Given the description of an element on the screen output the (x, y) to click on. 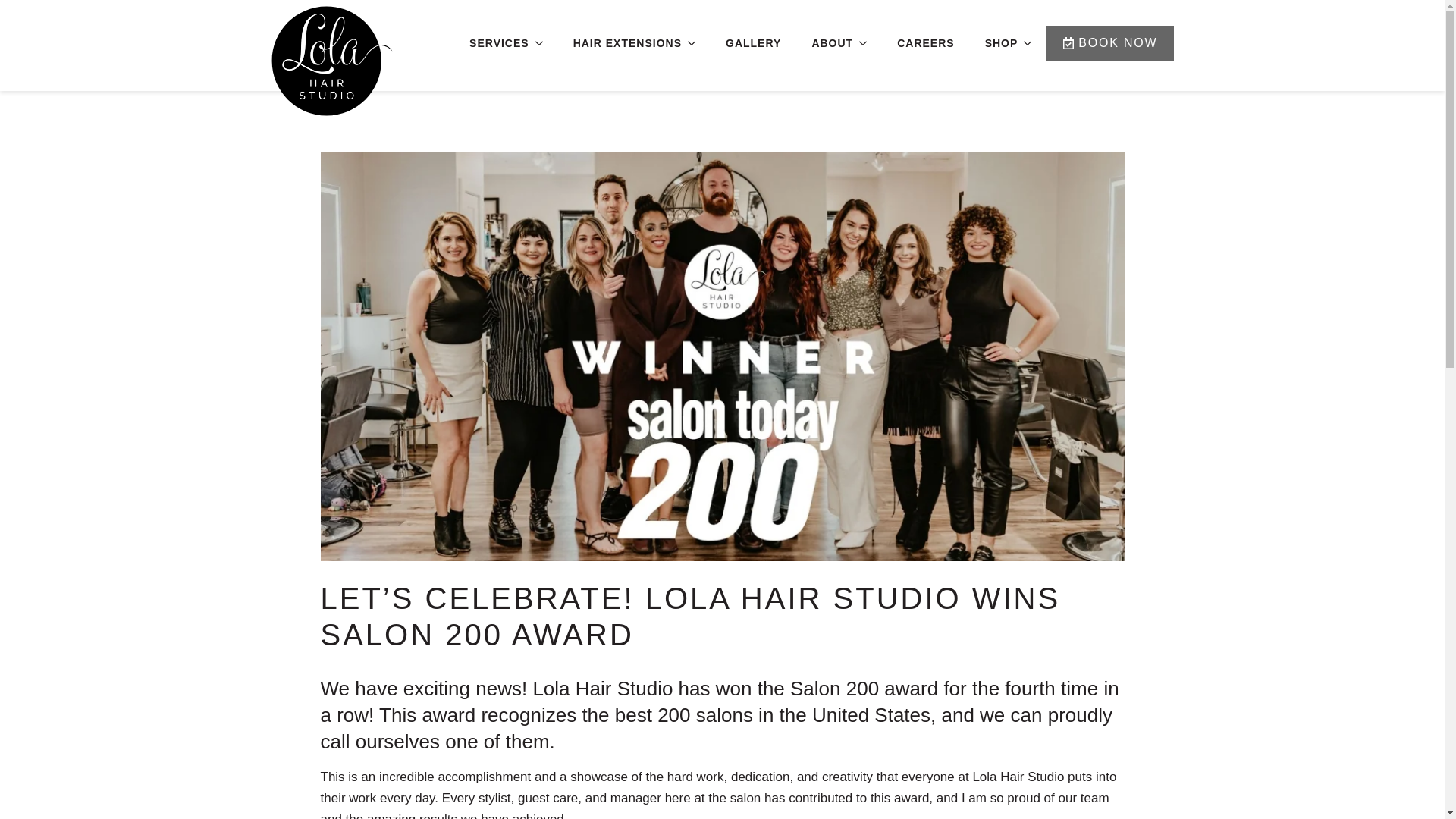
SERVICES (491, 42)
GALLERY (753, 42)
ABOUT (824, 42)
SHOP (993, 42)
BOOK NOW (1109, 42)
CAREERS (925, 42)
HAIR EXTENSIONS (619, 42)
